Given the description of an element on the screen output the (x, y) to click on. 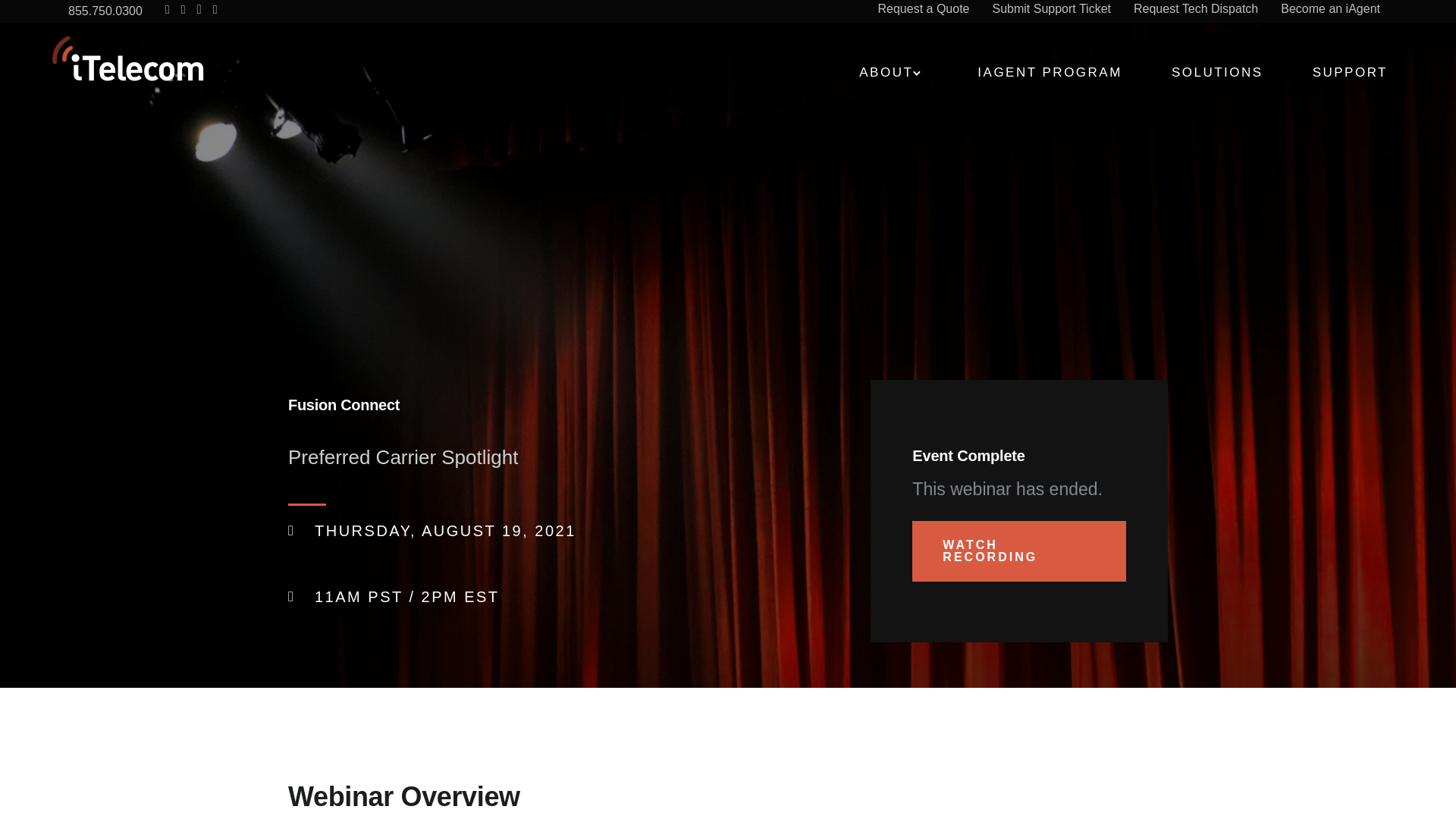
Request a Quote (923, 11)
SOLUTIONS (1217, 72)
iAgent Program (1049, 72)
Support (1350, 72)
SUPPORT (1350, 72)
Submit Support Ticket (1051, 11)
Become an iAgent (1329, 11)
855.750.0300 (105, 10)
Become an iAgent (1329, 11)
IAGENT PROGRAM (1049, 72)
About (885, 72)
Request Tech Dispatch (1195, 11)
Request a Quote (923, 11)
Solutions (1217, 72)
Submit Support Ticket (1051, 11)
